Given the description of an element on the screen output the (x, y) to click on. 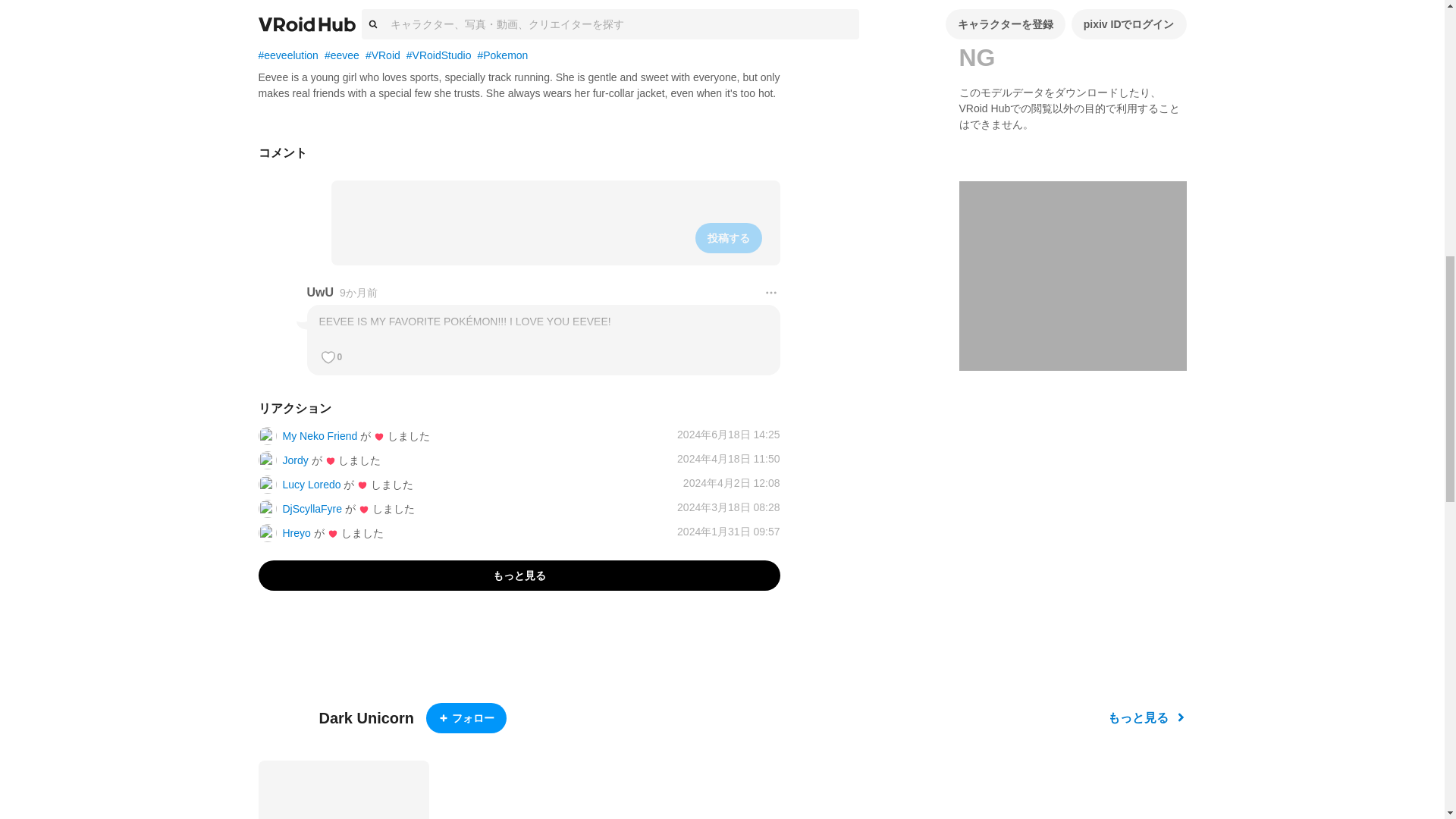
DjScyllaFyre (312, 508)
0 (327, 357)
Lucy Loredo (311, 484)
UwU (319, 292)
My Neko Friend (319, 435)
Jordy (294, 460)
